Given the description of an element on the screen output the (x, y) to click on. 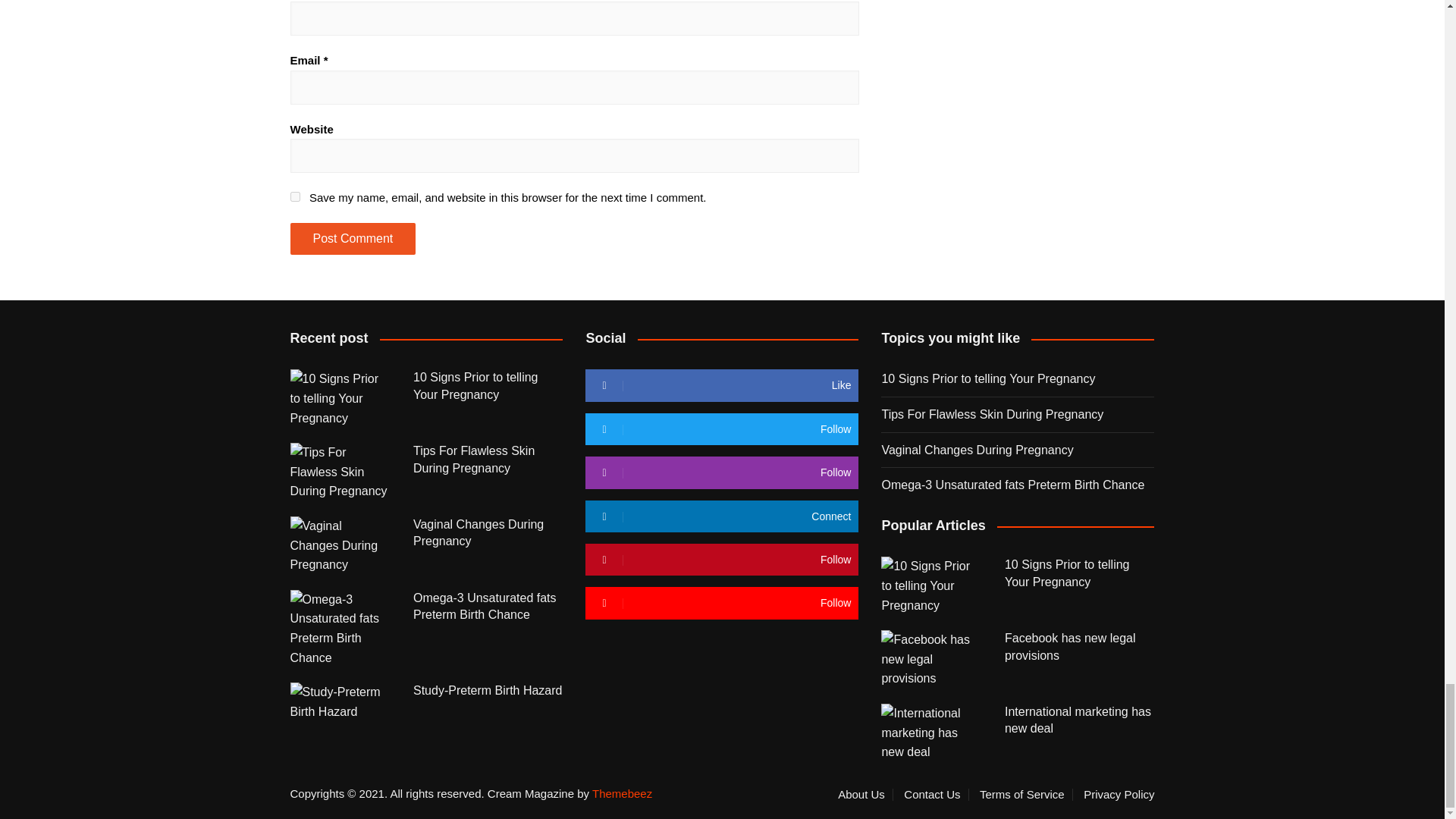
10 Signs Prior to telling Your Pregnancy (930, 585)
Study-Preterm Birth Hazard (339, 701)
yes (294, 196)
Omega-3 Unsaturated fats Preterm Birth Chance (339, 628)
Tips For Flawless Skin During Pregnancy (339, 472)
10 Signs Prior to telling Your Pregnancy (339, 398)
Post Comment (351, 238)
Vaginal Changes During Pregnancy (339, 545)
